Given the description of an element on the screen output the (x, y) to click on. 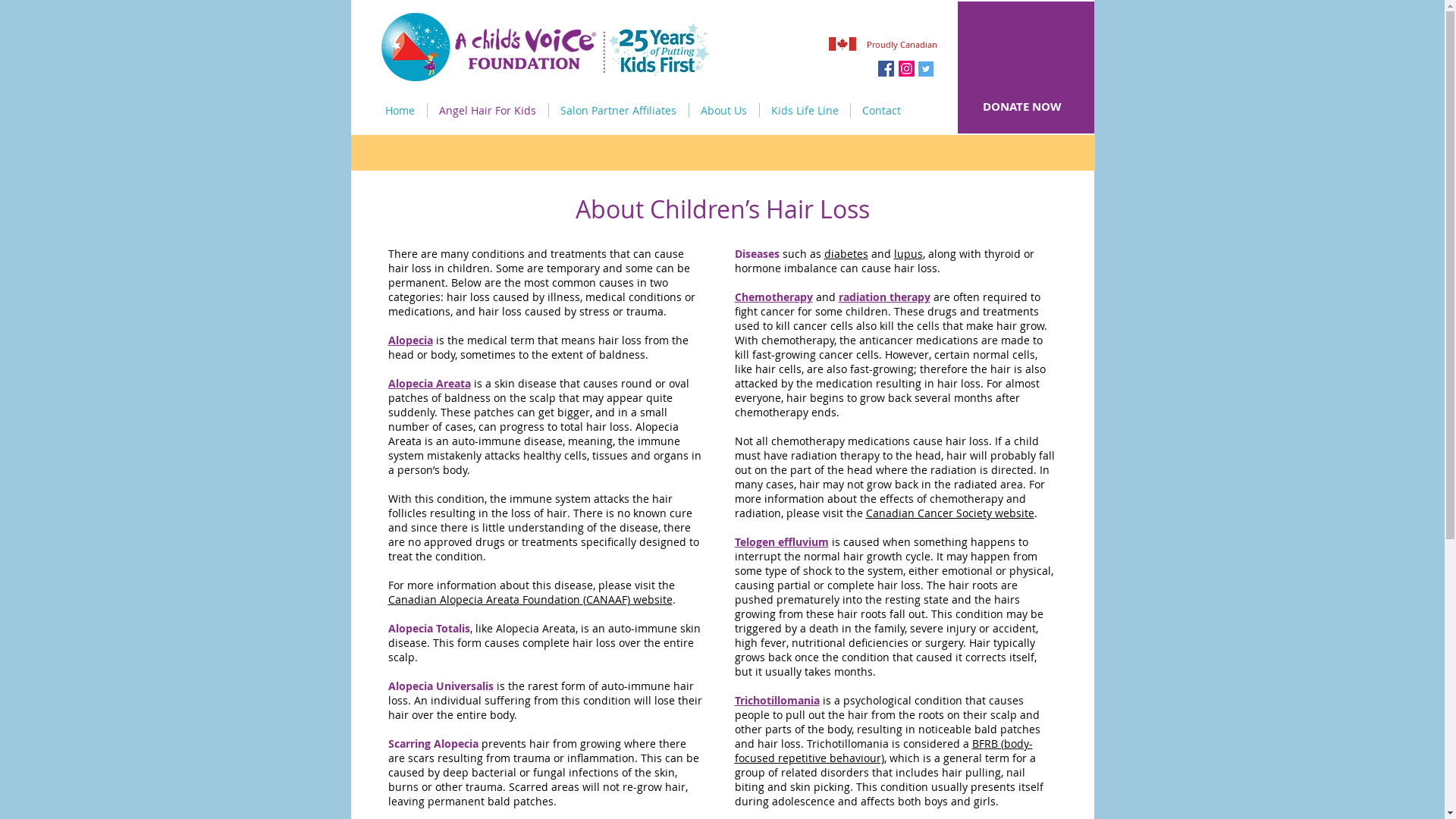
Alopecia Element type: text (410, 339)
Telogen effluvium Element type: text (781, 541)
BFRB (body-focused repetitive behaviour) Element type: text (883, 750)
About Us Element type: text (723, 110)
radiation therapy Element type: text (884, 296)
Angel Hair For Kids Element type: text (487, 110)
Alopecia Areata Element type: text (429, 383)
Home Element type: text (399, 110)
Canadian Alopecia Areata Foundation (CANAAF) website Element type: text (530, 599)
Chemotherapy Element type: text (773, 296)
Trichotillomania Element type: text (776, 700)
Contact Element type: text (881, 110)
Salon Partner Affiliates Element type: text (618, 110)
Canadian Cancer Society website Element type: text (950, 512)
Kids Life Line Element type: text (804, 110)
diabetes Element type: text (845, 253)
lupus Element type: text (907, 253)
